Given the description of an element on the screen output the (x, y) to click on. 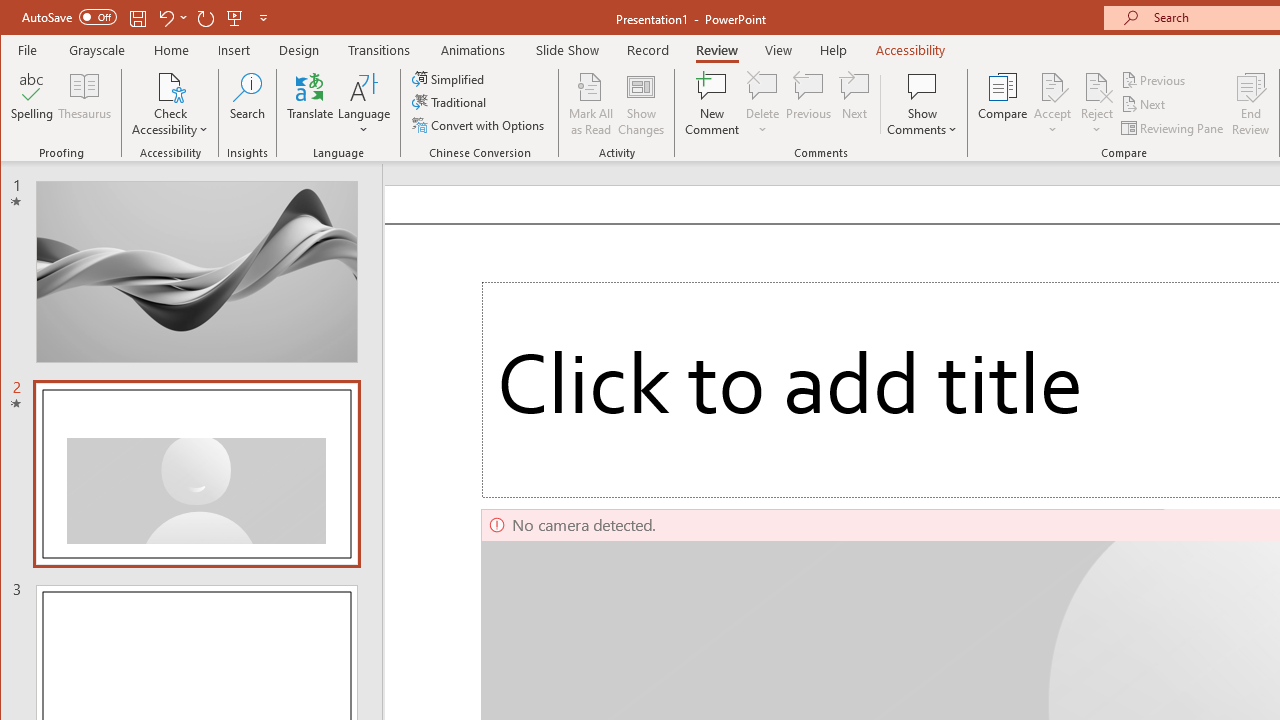
End Review (1251, 104)
New Comment (712, 104)
Accept (1052, 104)
Show Comments (922, 104)
Delete (762, 104)
Reviewing Pane (1173, 127)
Reject (1096, 104)
